Given the description of an element on the screen output the (x, y) to click on. 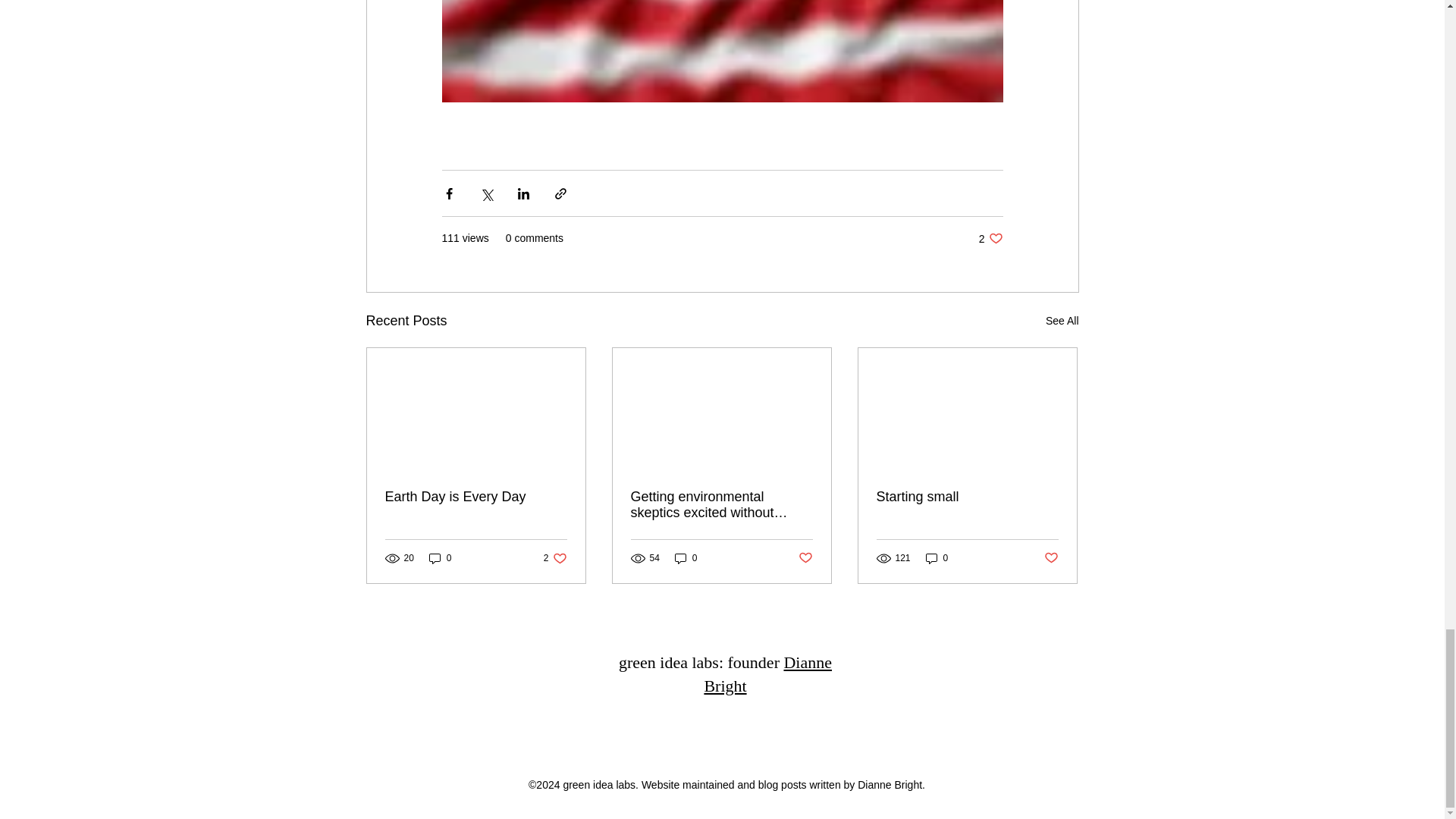
0 (685, 558)
0 (937, 558)
Post not marked as liked (804, 558)
Earth Day is Every Day (555, 558)
0 (476, 496)
Starting small (440, 558)
See All (967, 496)
